Given the description of an element on the screen output the (x, y) to click on. 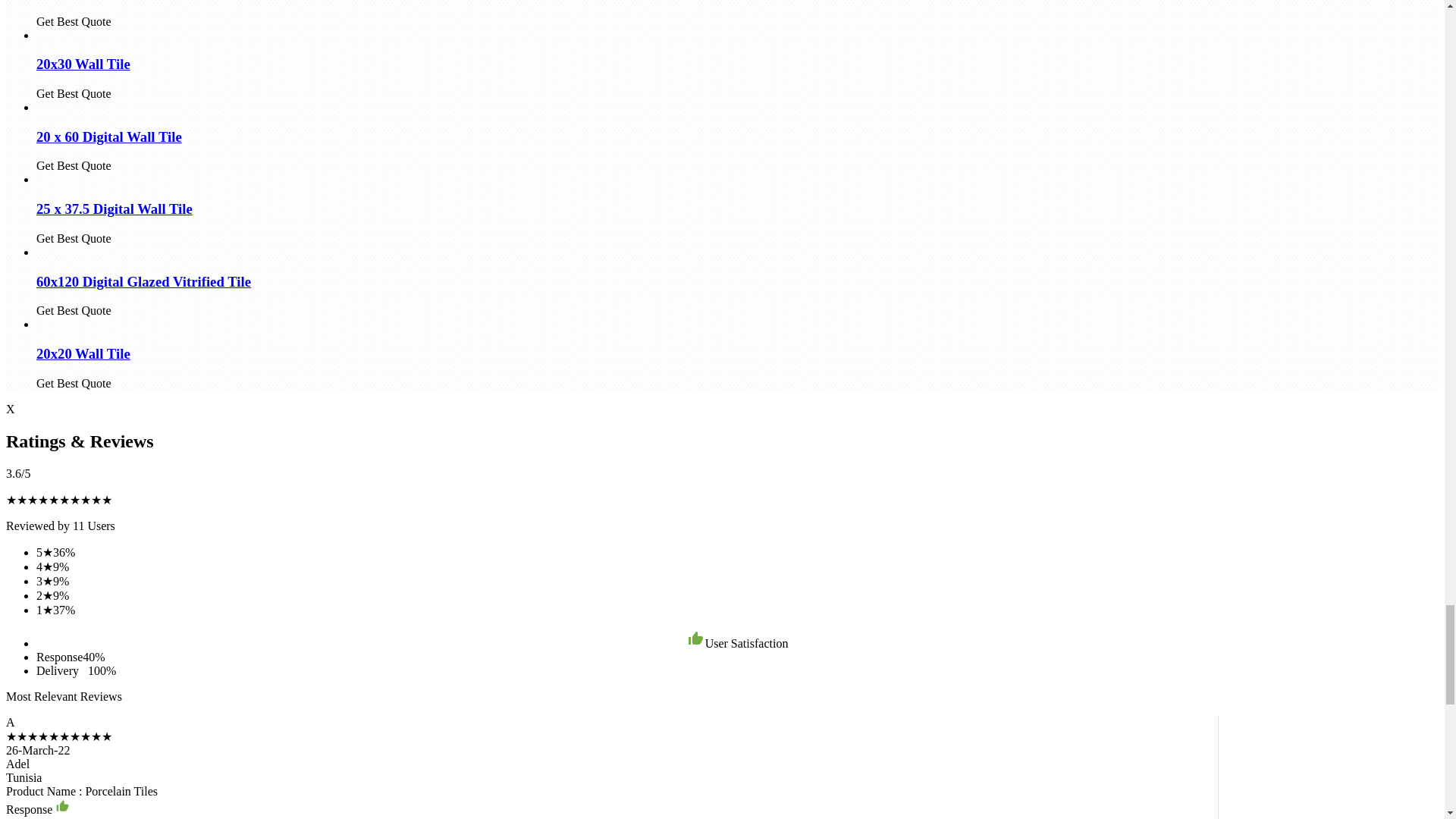
20x20 Wall Tile (83, 353)
3.6 out of 5 Votes (17, 472)
20 x 60 Digital Wall Tile (109, 136)
25 x 37.5 Digital Wall Tile (114, 208)
60x120 Digital Glazed Vitrified Tile (143, 281)
20x30 Wall Tile (83, 64)
